Given the description of an element on the screen output the (x, y) to click on. 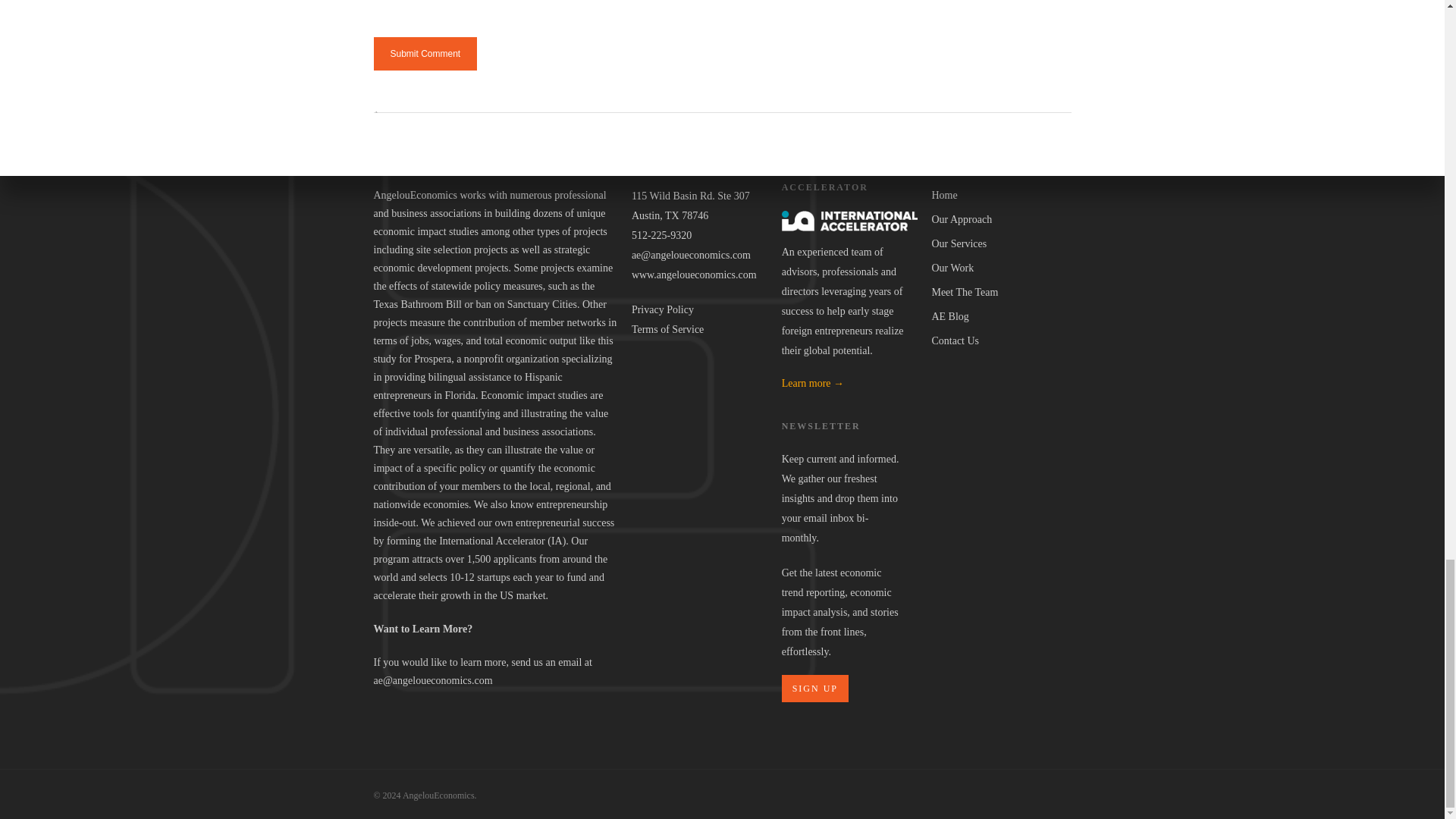
Submit Comment (424, 53)
